Given the description of an element on the screen output the (x, y) to click on. 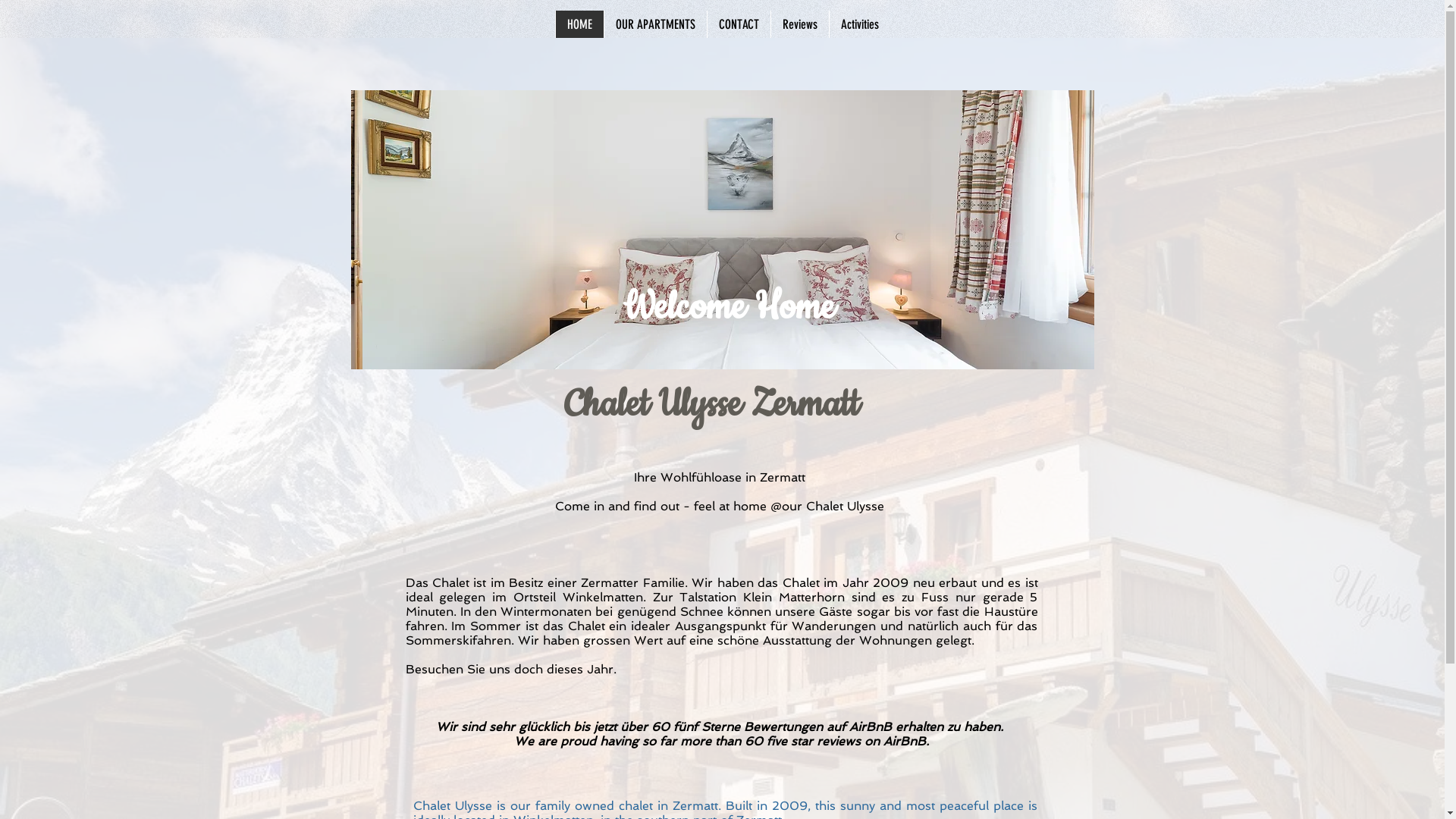
CONTACT Element type: text (738, 23)
Activities Element type: text (858, 23)
Reviews Element type: text (799, 23)
HOME Element type: text (579, 23)
OUR APARTMENTS Element type: text (654, 23)
